Given the description of an element on the screen output the (x, y) to click on. 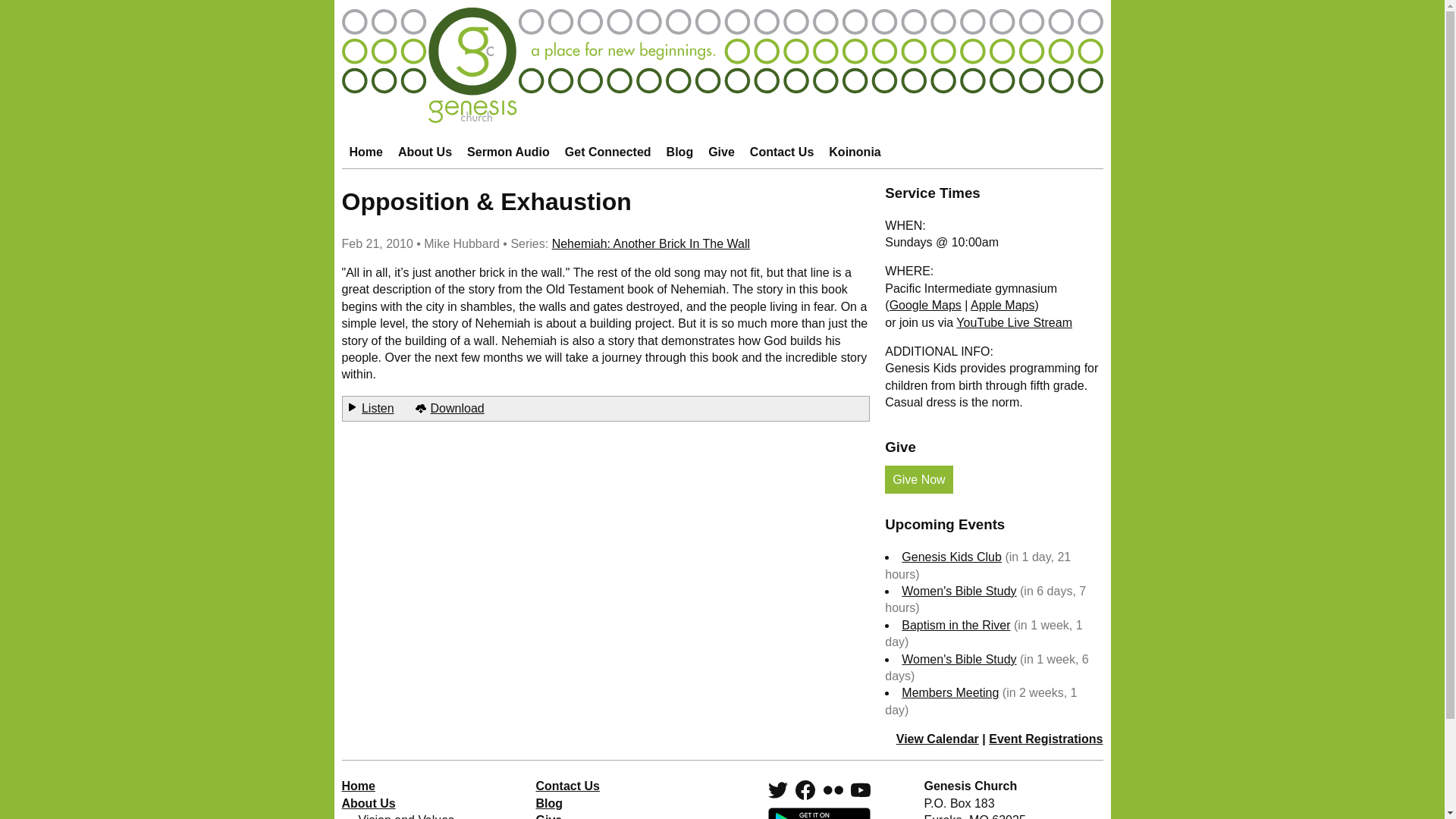
Listen (377, 408)
Members Meeting (949, 692)
Blog (680, 152)
Give Now (918, 479)
Blog (680, 152)
Give (721, 152)
Sermon Audio (508, 152)
Get Connected (607, 152)
YouTube Live Stream (1013, 322)
Genesis Kids Club (951, 556)
Get Connected (607, 152)
Sermon Audio (508, 152)
View Calendar (937, 738)
Google Maps (924, 305)
Home (365, 152)
